Given the description of an element on the screen output the (x, y) to click on. 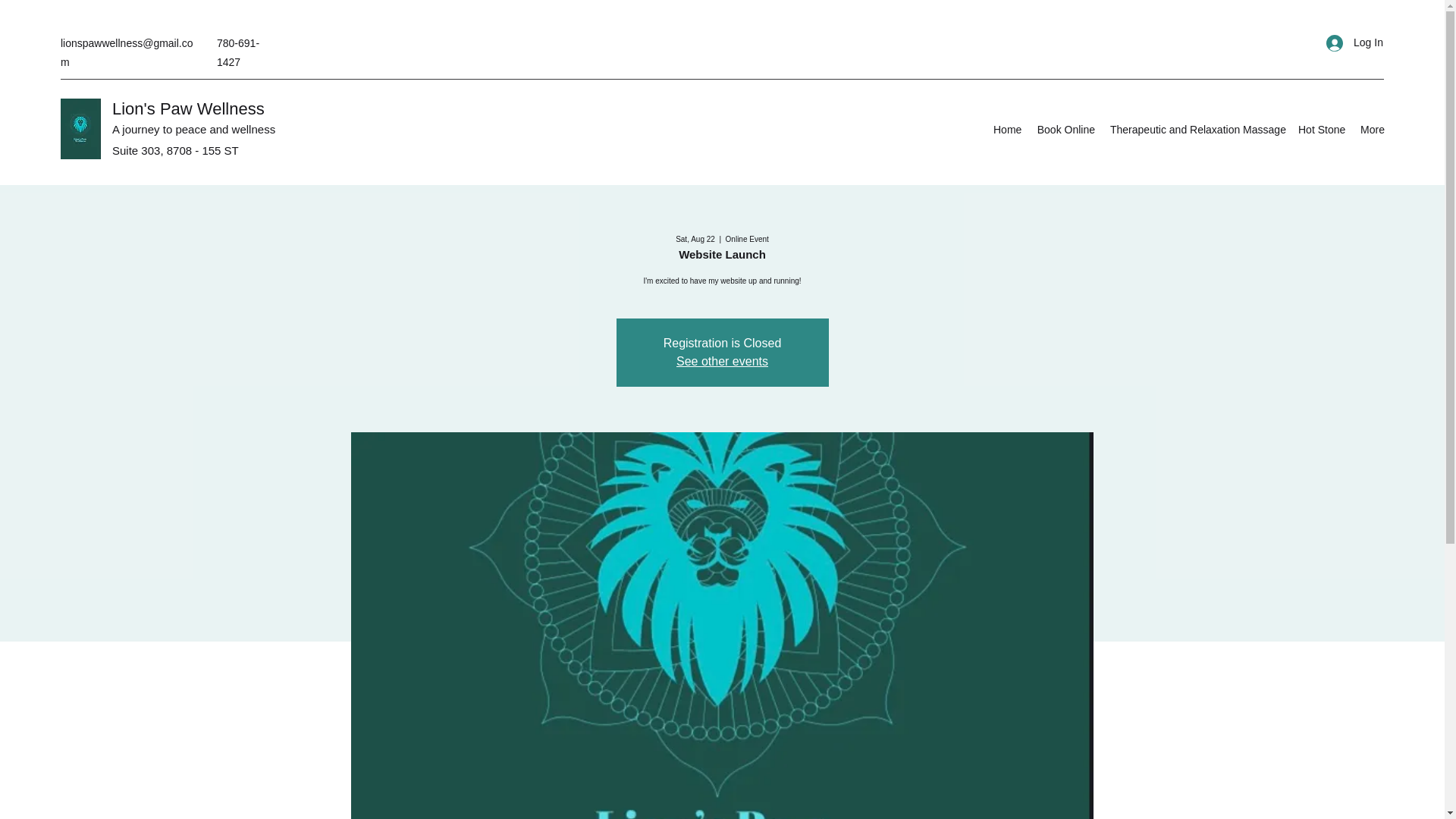
Home (1007, 128)
Log In (1350, 42)
Book Online (1065, 128)
Lion's Paw Wellness (188, 108)
Hot Stone (1321, 128)
See other events (722, 360)
Therapeutic and Relaxation Massage (1196, 128)
